Given the description of an element on the screen output the (x, y) to click on. 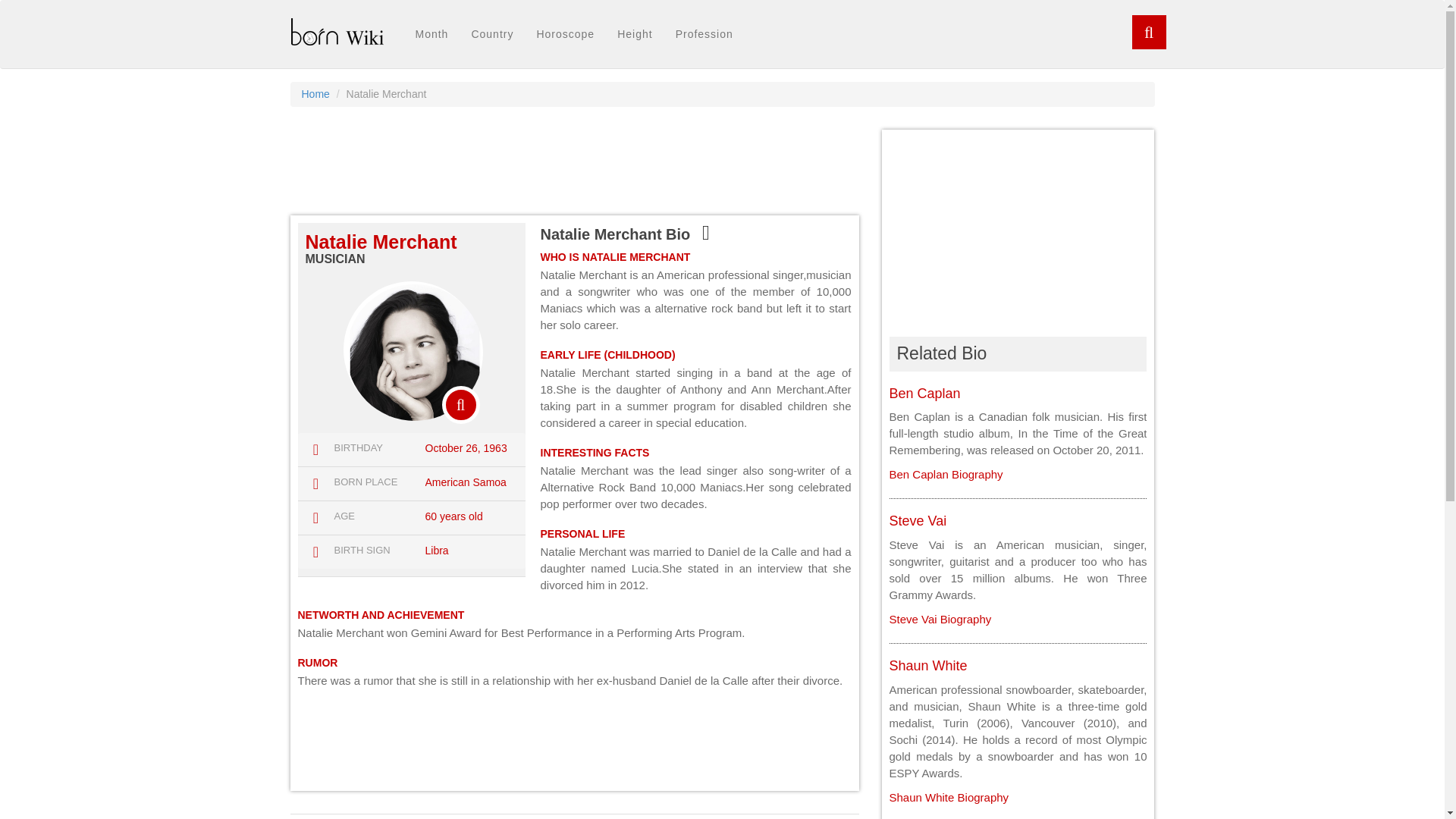
Libra (436, 550)
American Samoa (465, 481)
Ben Caplan (923, 393)
Country (492, 34)
Horoscope (564, 34)
Profession (703, 34)
Steve Vai (939, 618)
Month (431, 34)
Advertisement (574, 738)
Shaun White (927, 665)
